Given the description of an element on the screen output the (x, y) to click on. 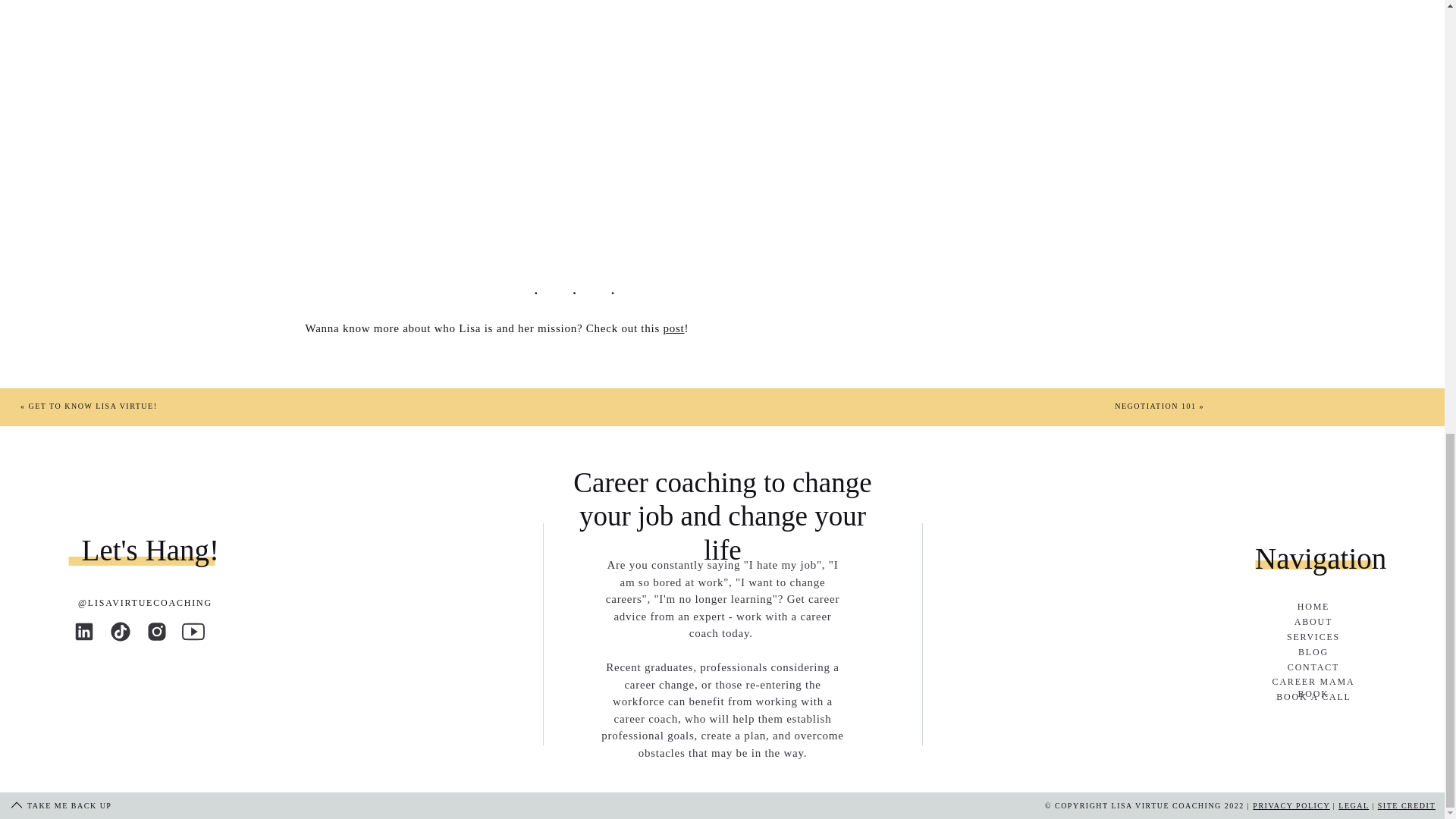
PRIVACY POLICY (1290, 805)
BOOK A CALL (1313, 697)
post (673, 328)
NEGOTIATION 101 (1155, 406)
SITE CREDIT (1406, 805)
LEGAL (1353, 805)
CAREER MAMA BOOK (1313, 682)
GET TO KNOW LISA VIRTUE! (93, 406)
CONTACT (1312, 667)
BLOG (1312, 653)
HOME (1312, 607)
SERVICES (1312, 637)
TAKE ME BACK UP (73, 805)
ABOUT (1312, 622)
